Given the description of an element on the screen output the (x, y) to click on. 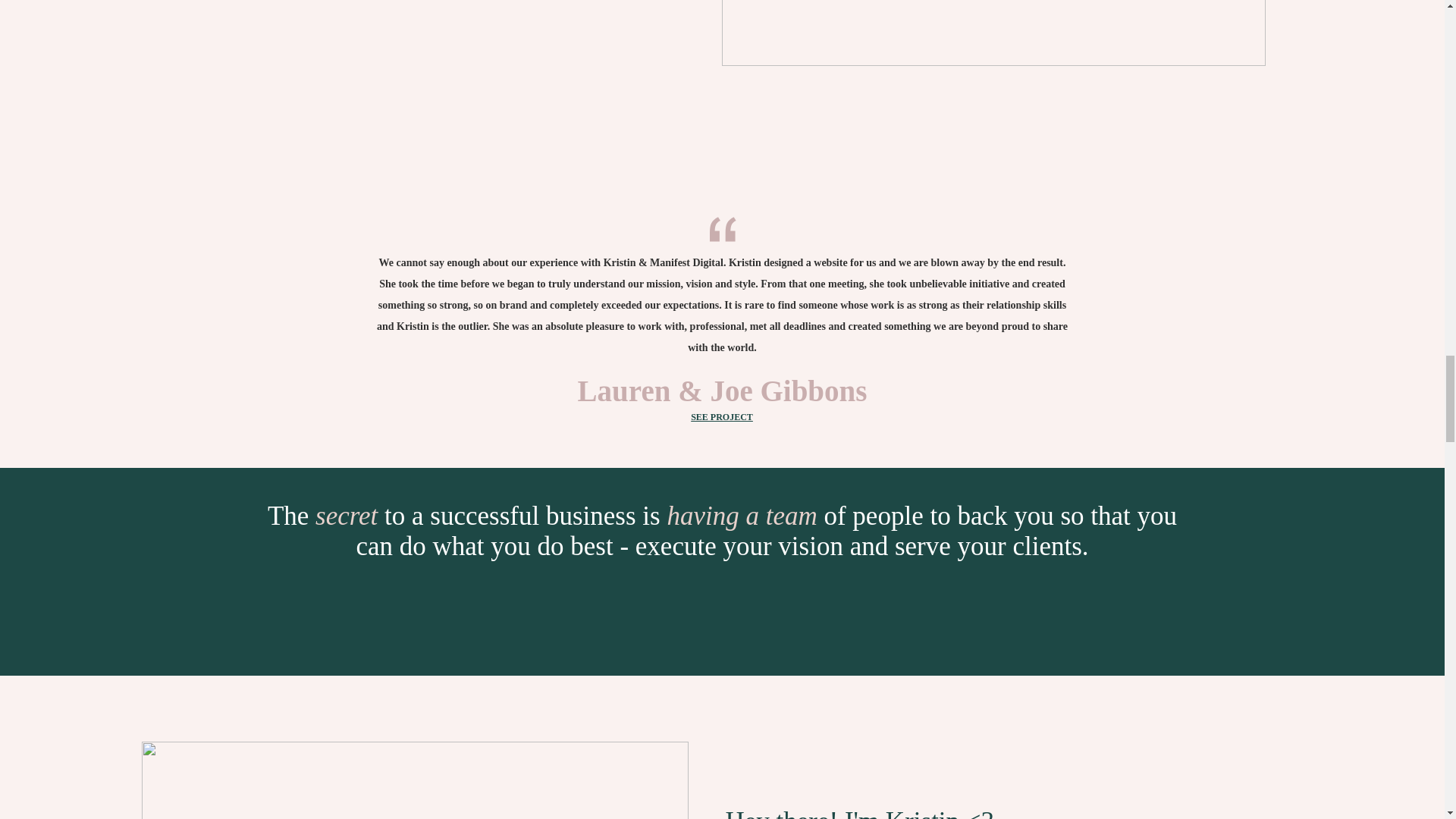
SEE PROJECT (721, 416)
